Given the description of an element on the screen output the (x, y) to click on. 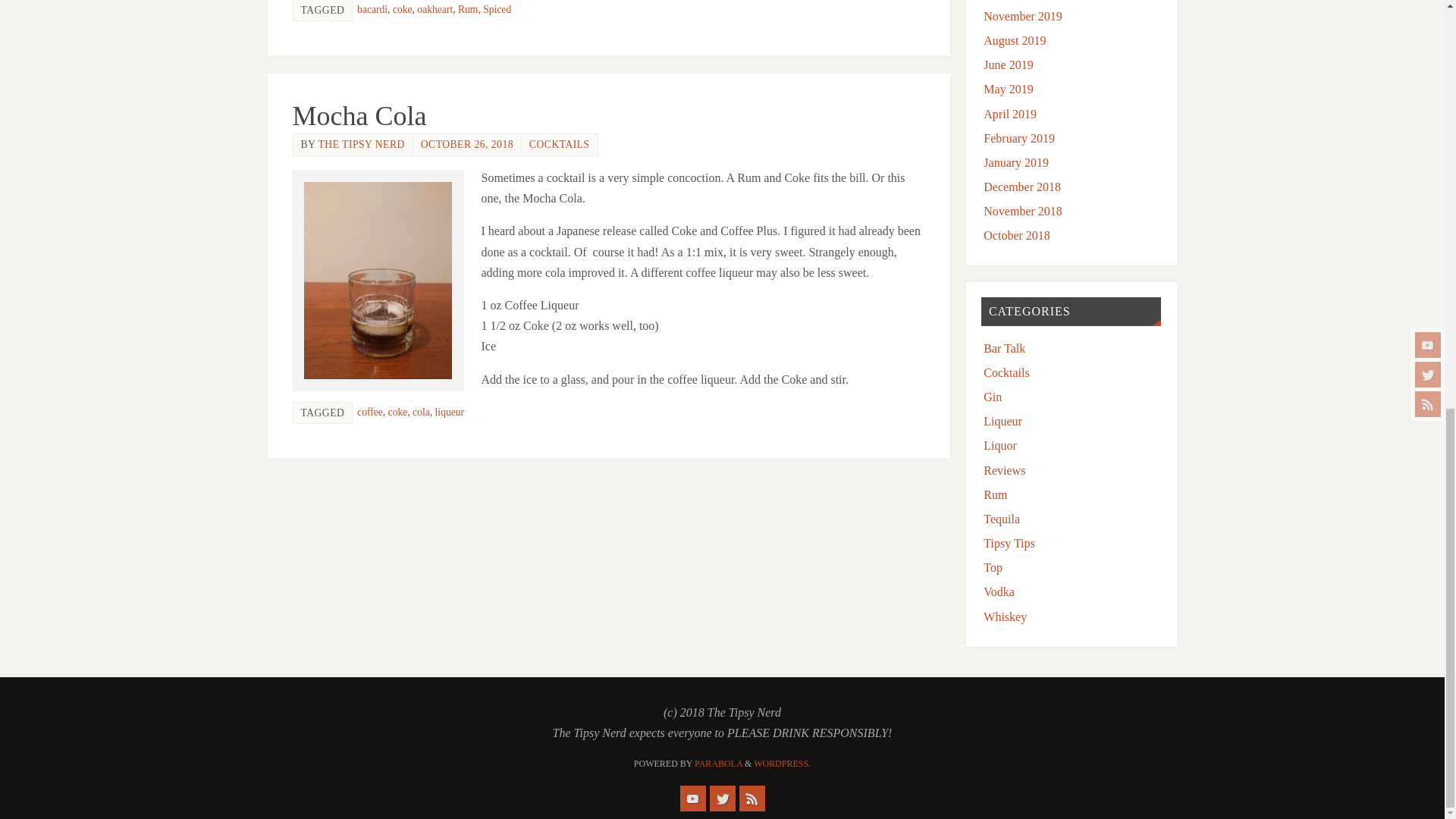
View all posts by The Tipsy Nerd (361, 143)
Rum (467, 9)
bacardi (371, 9)
coke (402, 9)
THE TIPSY NERD (361, 143)
RSS (751, 798)
Semantic Personal Publishing Platform (782, 763)
YouTube (691, 798)
Parabola Theme by Cryout Creations (718, 763)
Mocha Cola (359, 115)
